Given the description of an element on the screen output the (x, y) to click on. 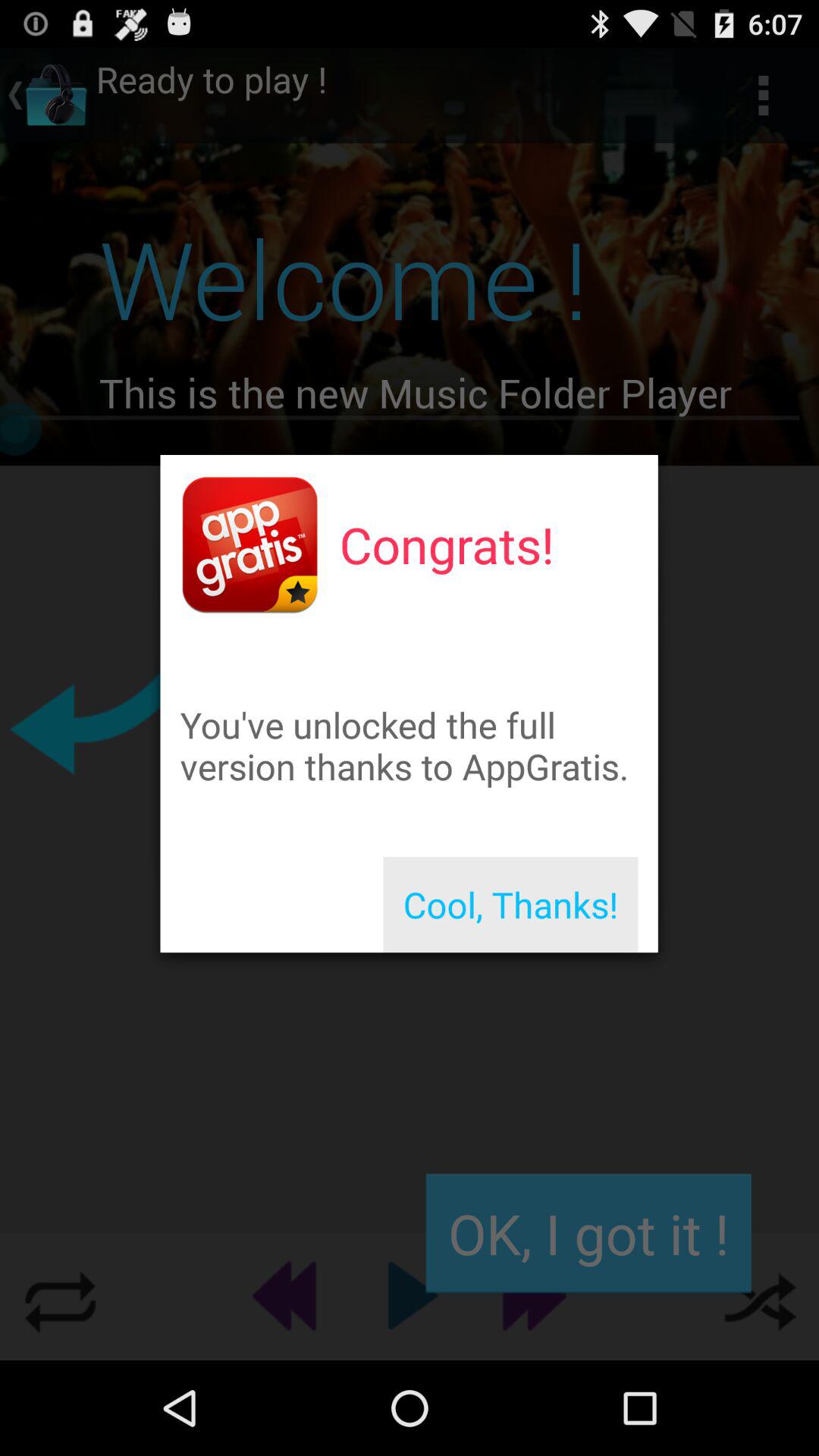
turn off cool, thanks! (510, 904)
